Given the description of an element on the screen output the (x, y) to click on. 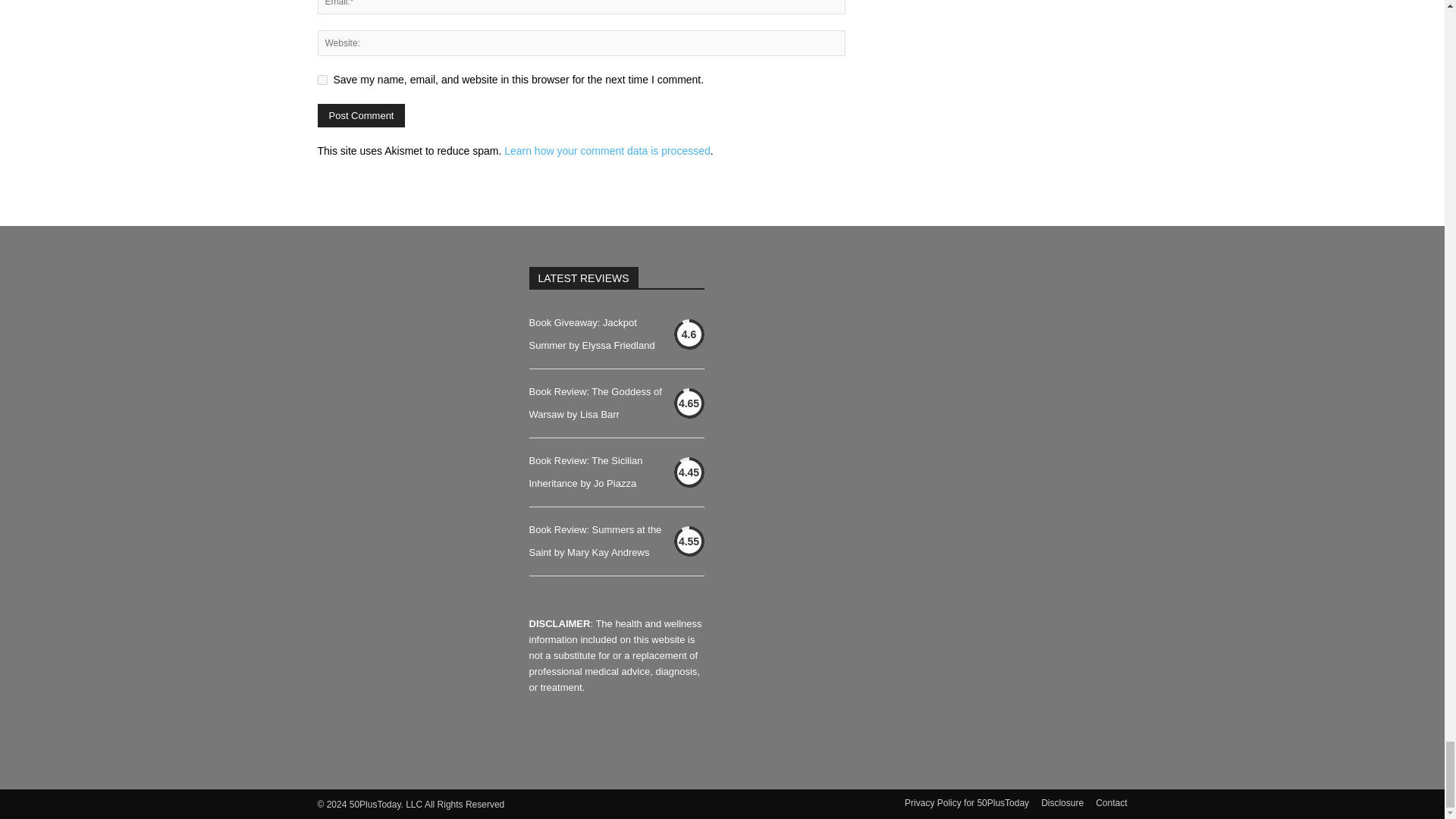
yes (321, 80)
Post Comment (360, 115)
